Given the description of an element on the screen output the (x, y) to click on. 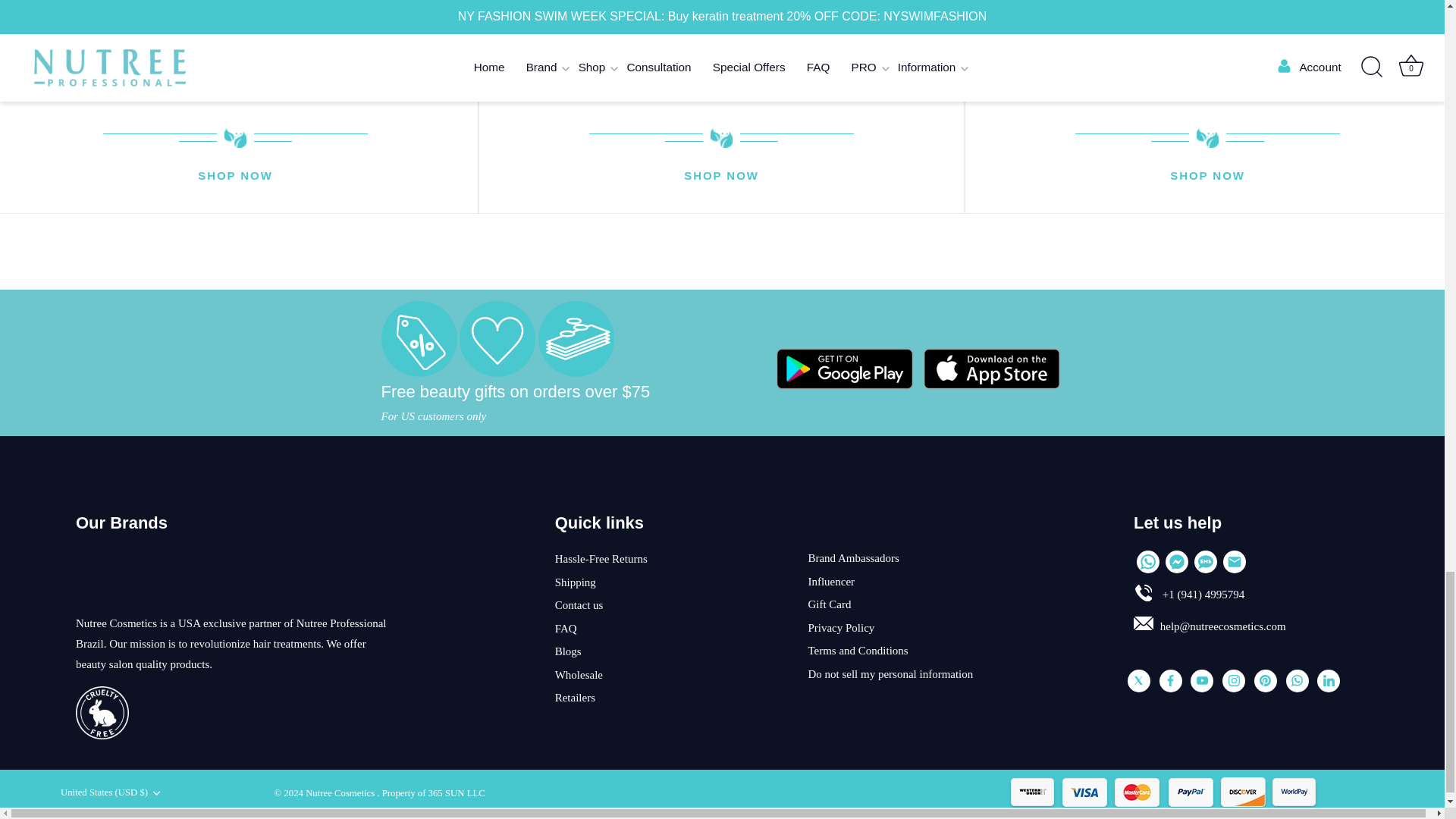
Shop Now (1207, 176)
Shop Now (721, 176)
Shop Now (234, 176)
